Given the description of an element on the screen output the (x, y) to click on. 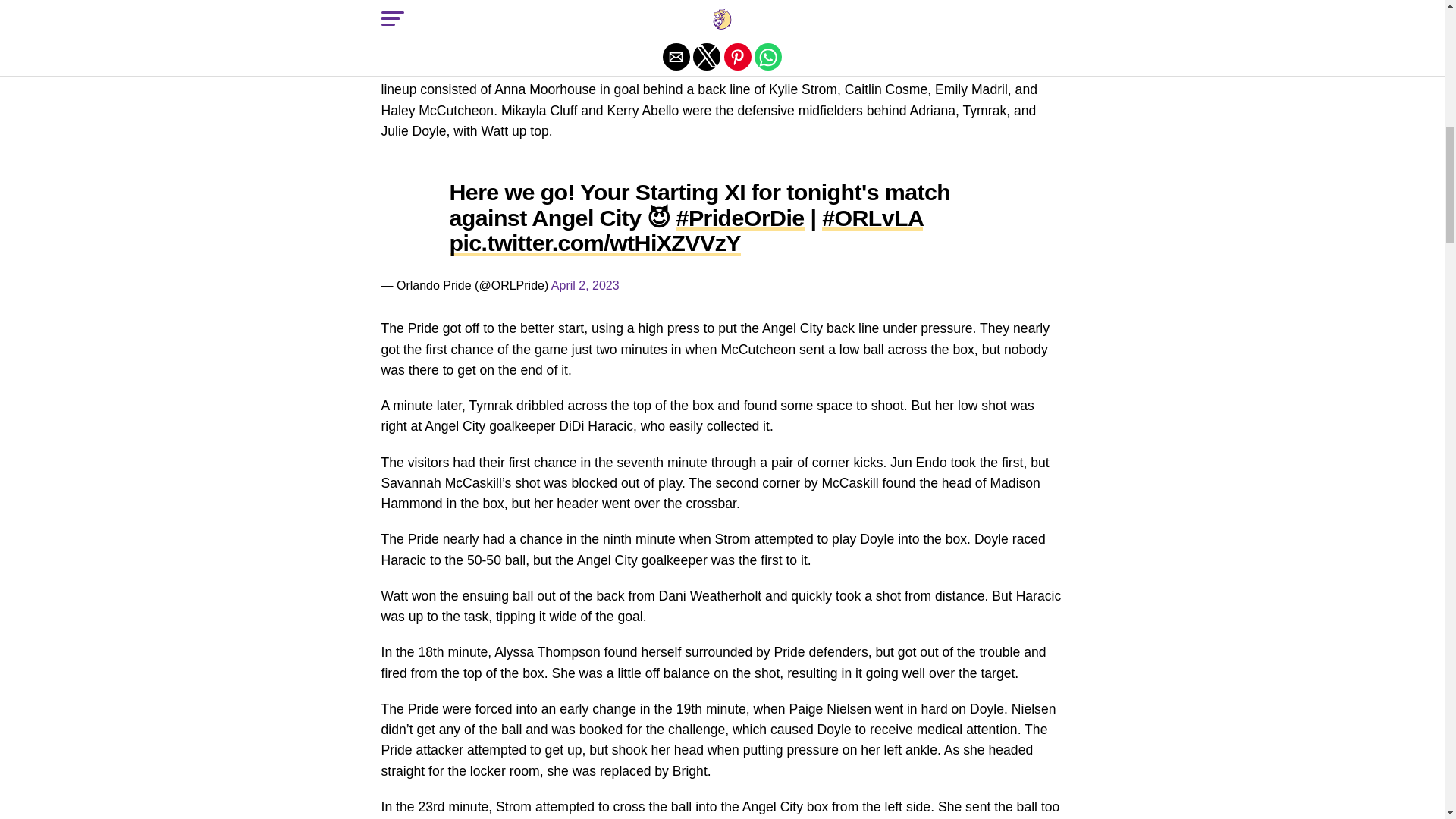
Twitter (721, 231)
April 2, 2023 (585, 285)
fell 4-0 to the Portland Thorns (873, 48)
